Given the description of an element on the screen output the (x, y) to click on. 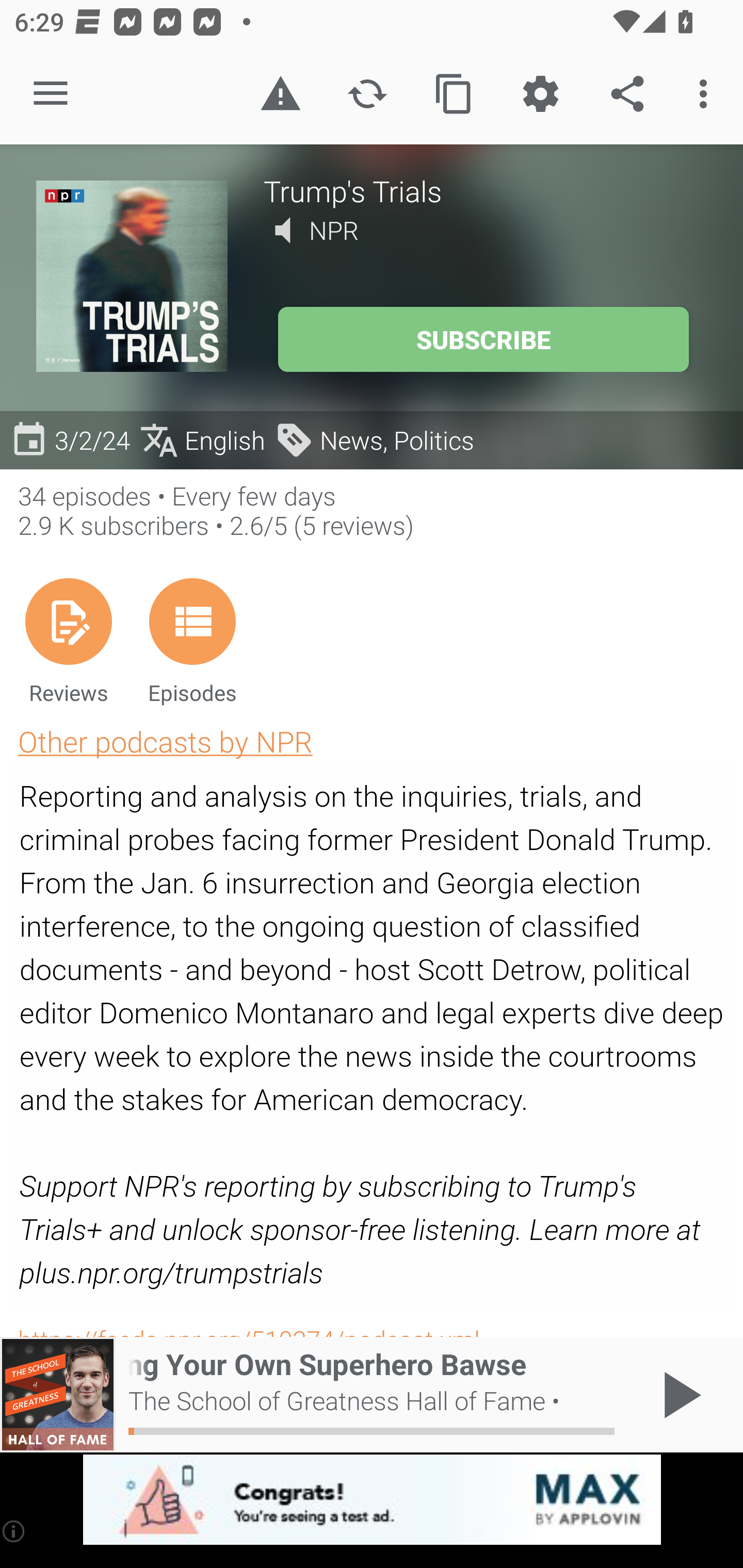
Open navigation sidebar (50, 93)
Report inappropriate content (280, 93)
Refresh podcast description (366, 93)
Copy feed url to clipboard (453, 93)
Custom Settings (540, 93)
Share the podcast (626, 93)
More options (706, 93)
Trump's Trials (484, 190)
NPR (333, 230)
SUBSCRIBE (482, 339)
News, Politics (374, 439)
Reviews (68, 640)
Episodes (192, 640)
Other podcasts by NPR (164, 740)
Play / Pause (677, 1394)
app-monetization (371, 1500)
(i) (14, 1531)
